Given the description of an element on the screen output the (x, y) to click on. 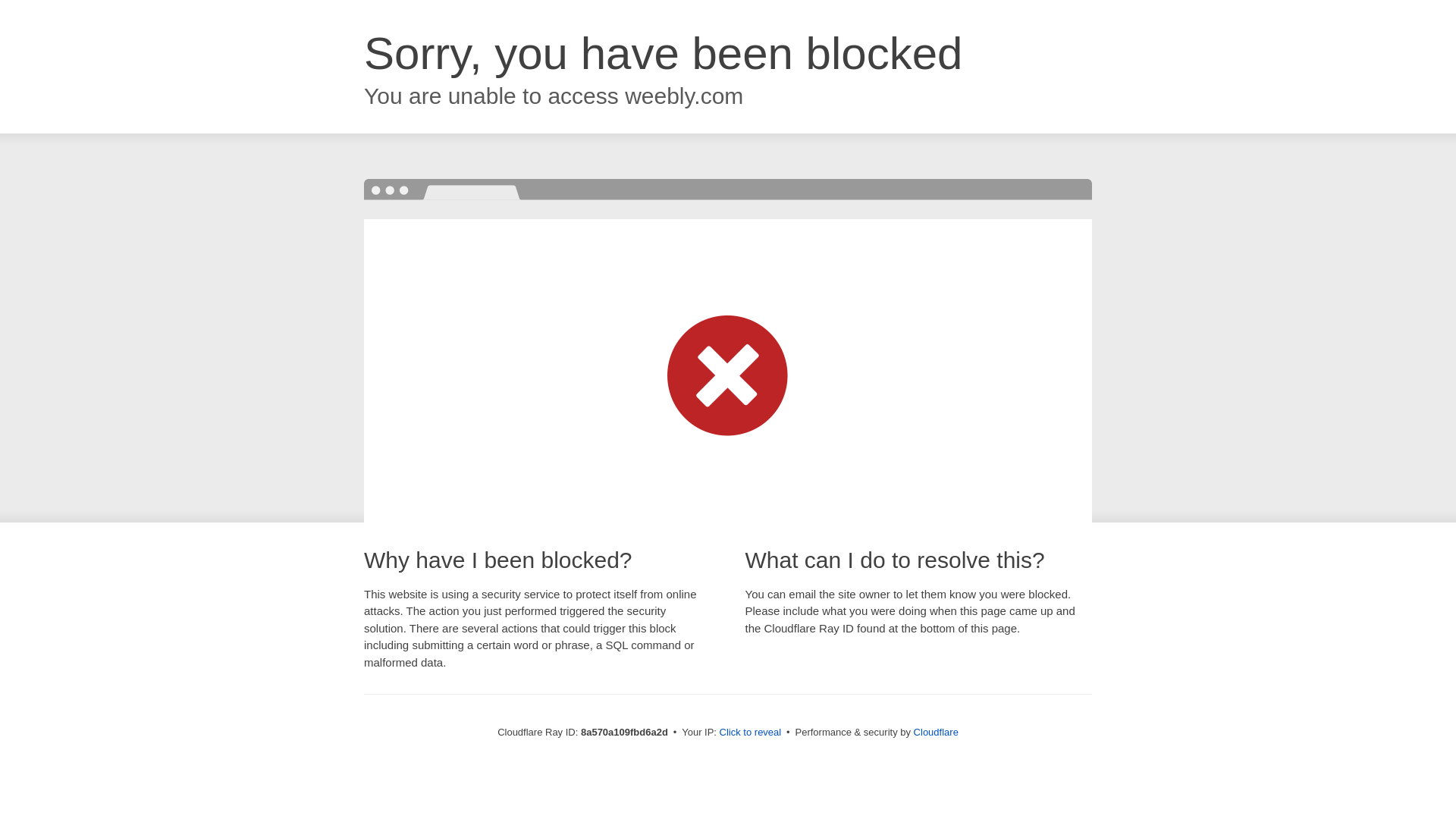
Cloudflare (936, 731)
Click to reveal (750, 732)
